Given the description of an element on the screen output the (x, y) to click on. 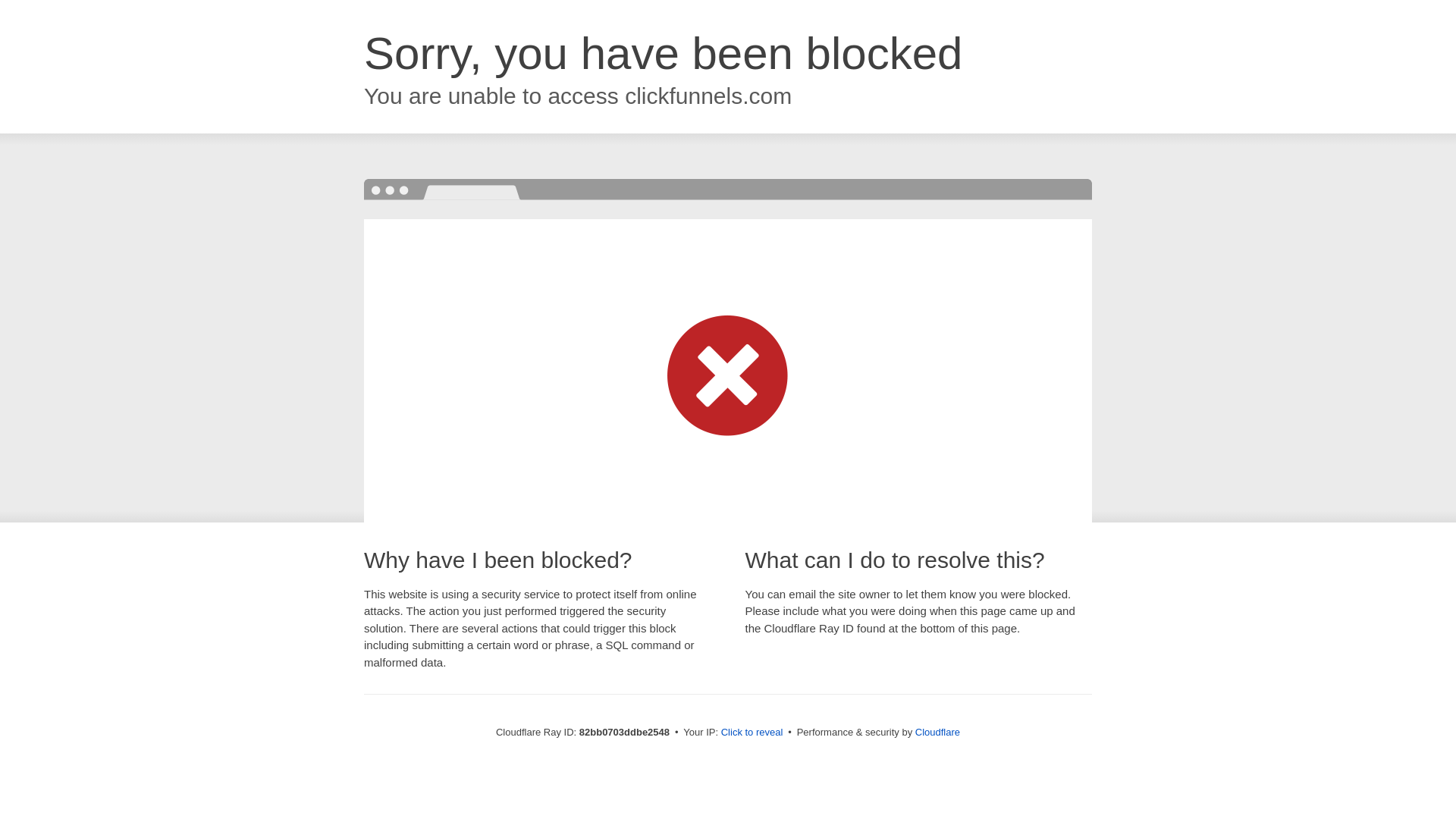
Click to reveal Element type: text (752, 732)
Cloudflare Element type: text (937, 731)
